Given the description of an element on the screen output the (x, y) to click on. 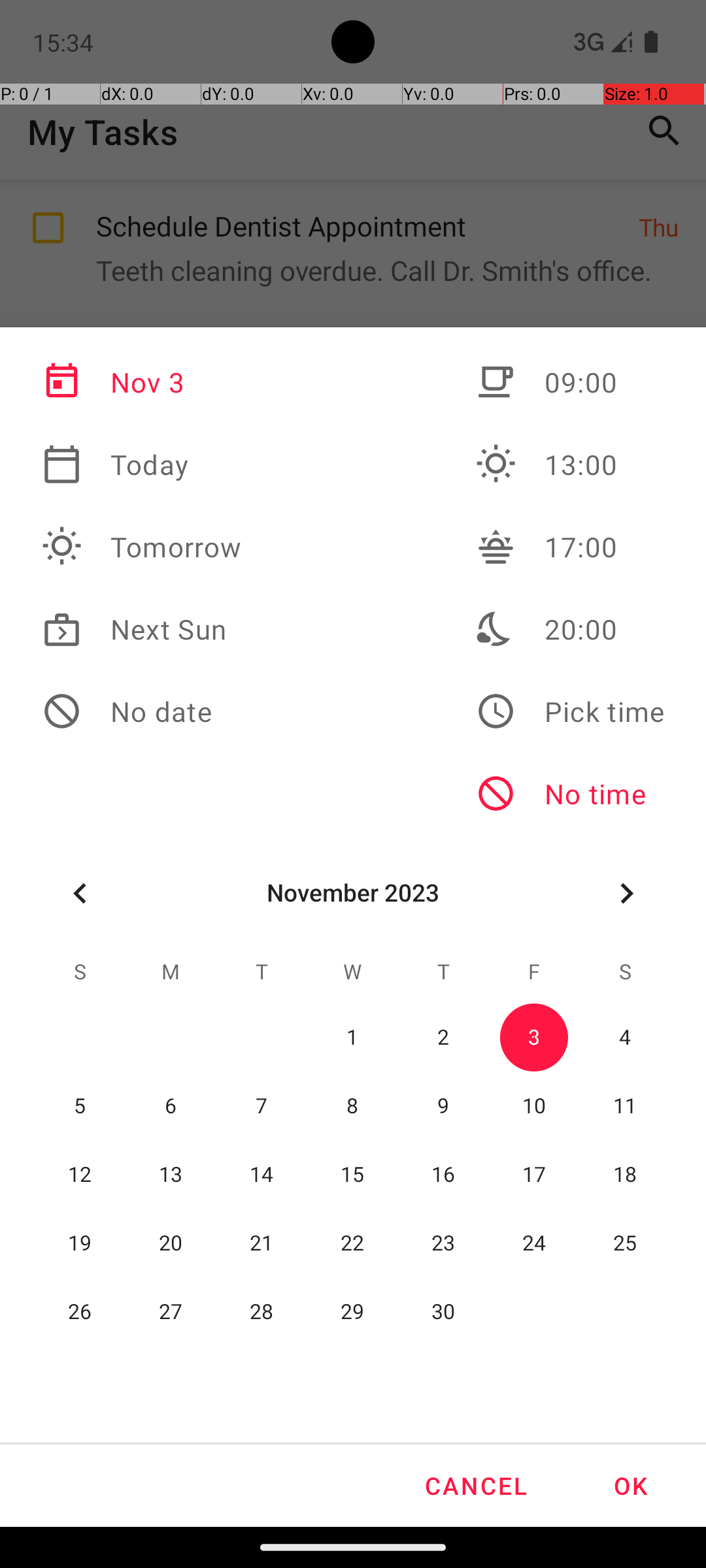
Nov 3 Element type: android.widget.CompoundButton (141, 382)
